Given the description of an element on the screen output the (x, y) to click on. 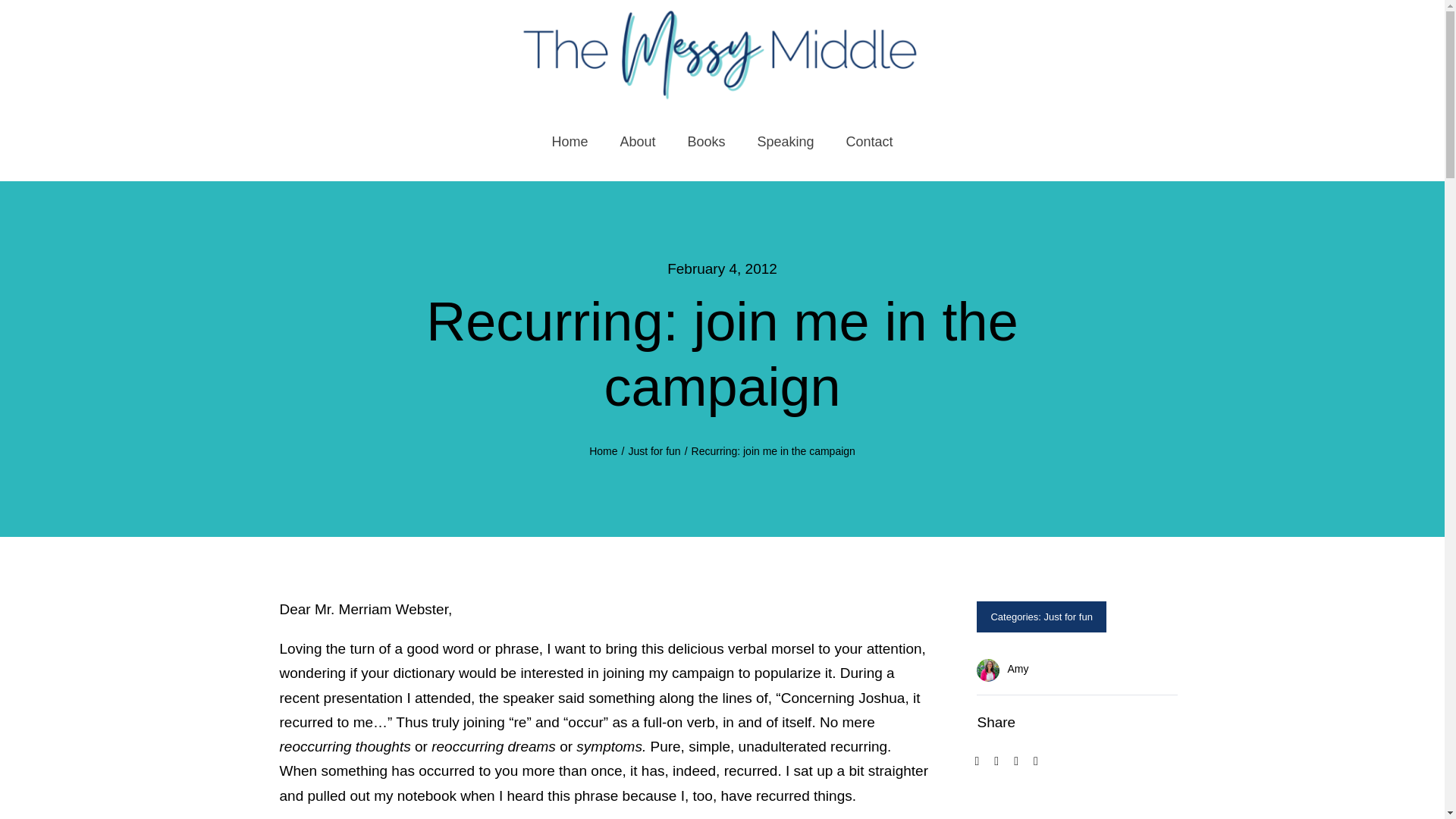
Books (705, 142)
Home (603, 451)
Home (569, 142)
Contact (869, 142)
Just for fun (1068, 616)
About (636, 142)
Just for fun (653, 451)
Speaking (785, 142)
